Given the description of an element on the screen output the (x, y) to click on. 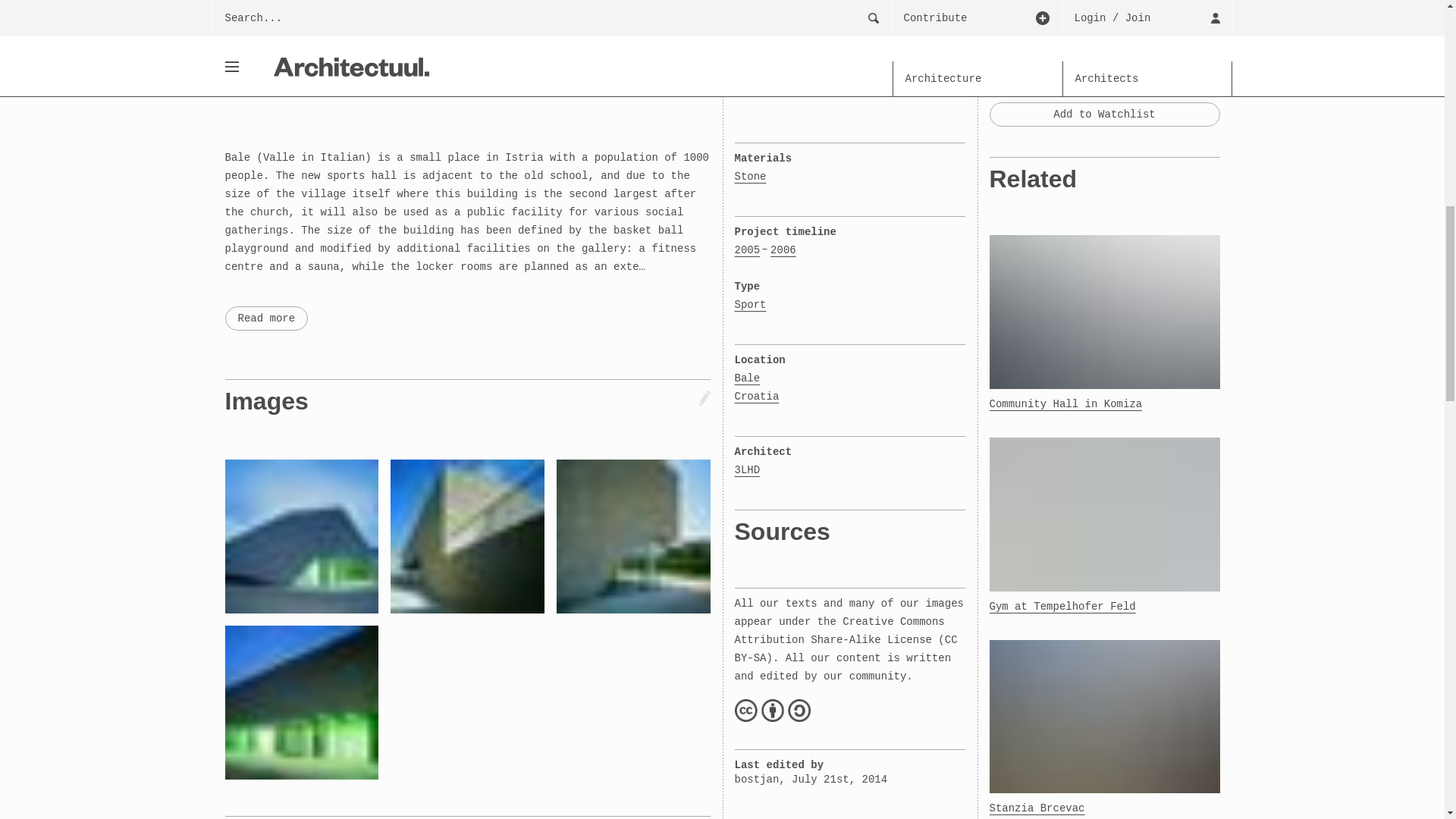
Stone (749, 176)
1 of 4 (258, 20)
Architect's Web (1147, 20)
